Given the description of an element on the screen output the (x, y) to click on. 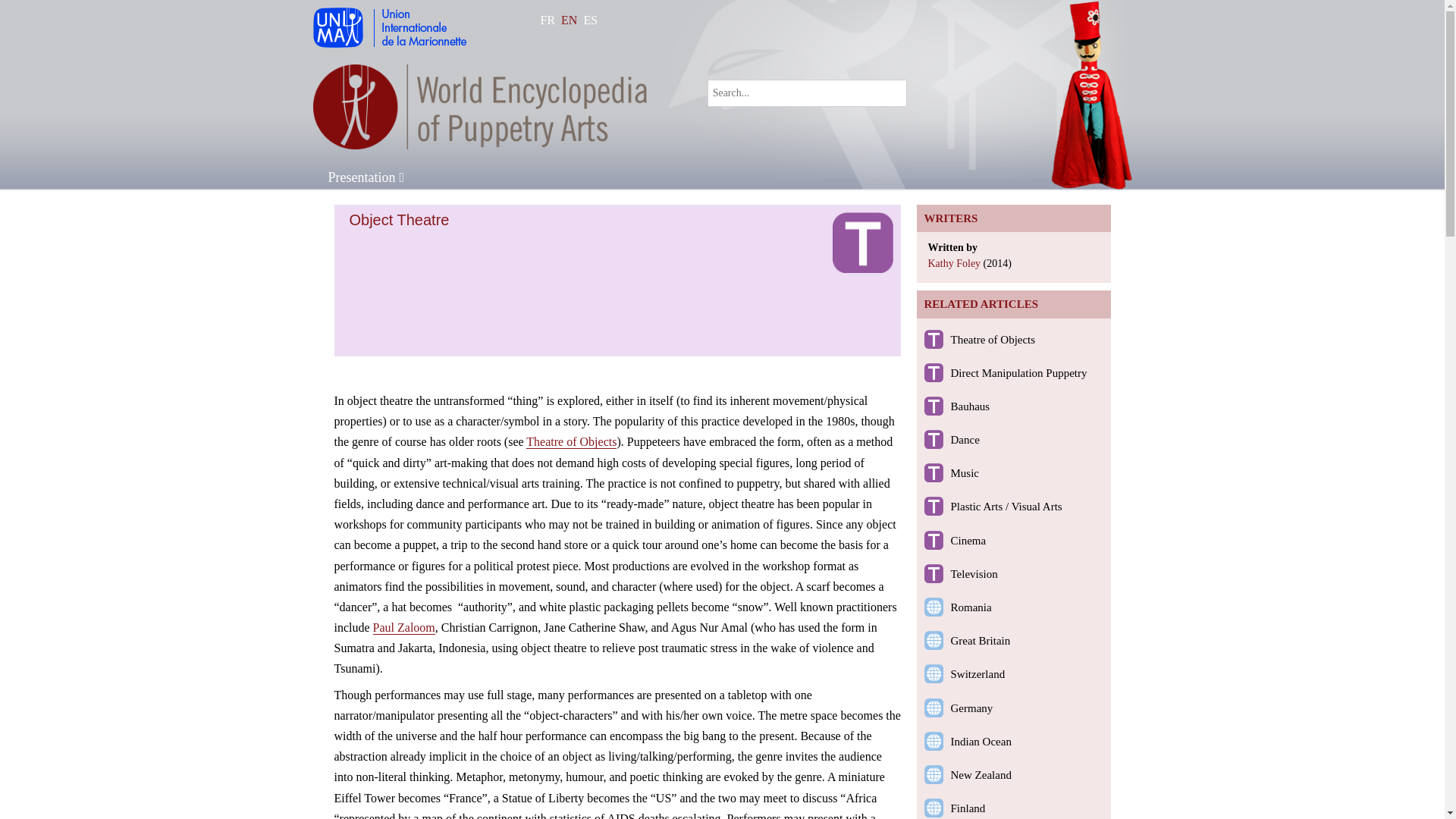
Theatre of Objects (992, 339)
Presentation (365, 177)
View article Paul Zaloom (403, 626)
Great Britain (980, 640)
Finland (967, 808)
EN (568, 19)
Kathy Foley (954, 263)
Music (964, 472)
New Zealand (980, 775)
Indian Ocean (980, 741)
Switzerland (978, 674)
Germany (971, 707)
Direct Manipulation Puppetry (1018, 372)
Cinema (968, 540)
Romania (970, 607)
